Given the description of an element on the screen output the (x, y) to click on. 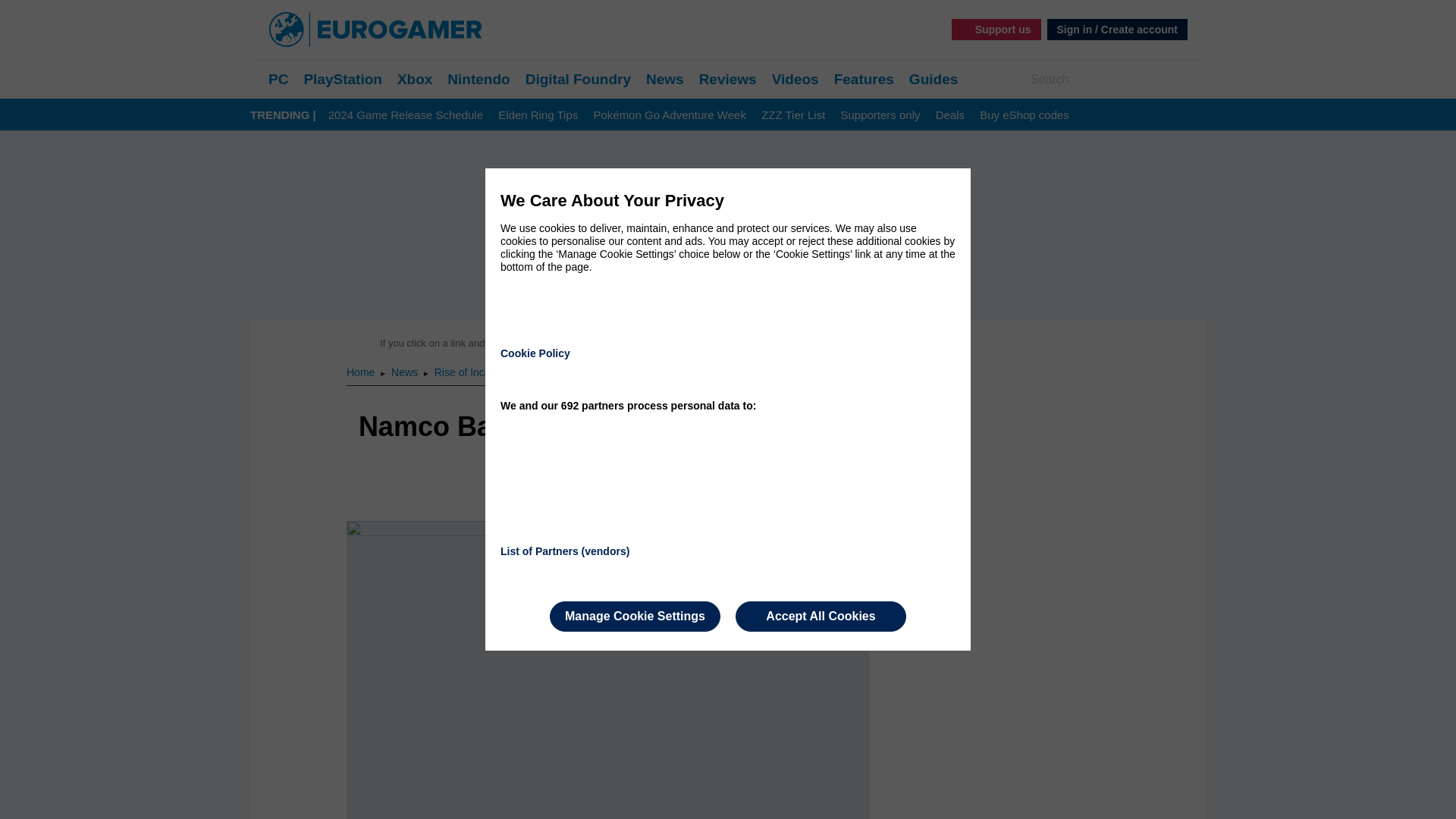
Deals (949, 114)
PlayStation (341, 78)
Deals (949, 114)
ZZZ Tier List (793, 114)
2024 Game Release Schedule (406, 114)
Features (863, 78)
Features (863, 78)
Supporters only (880, 114)
Elden Ring Tips (537, 114)
Reviews (727, 78)
